Given the description of an element on the screen output the (x, y) to click on. 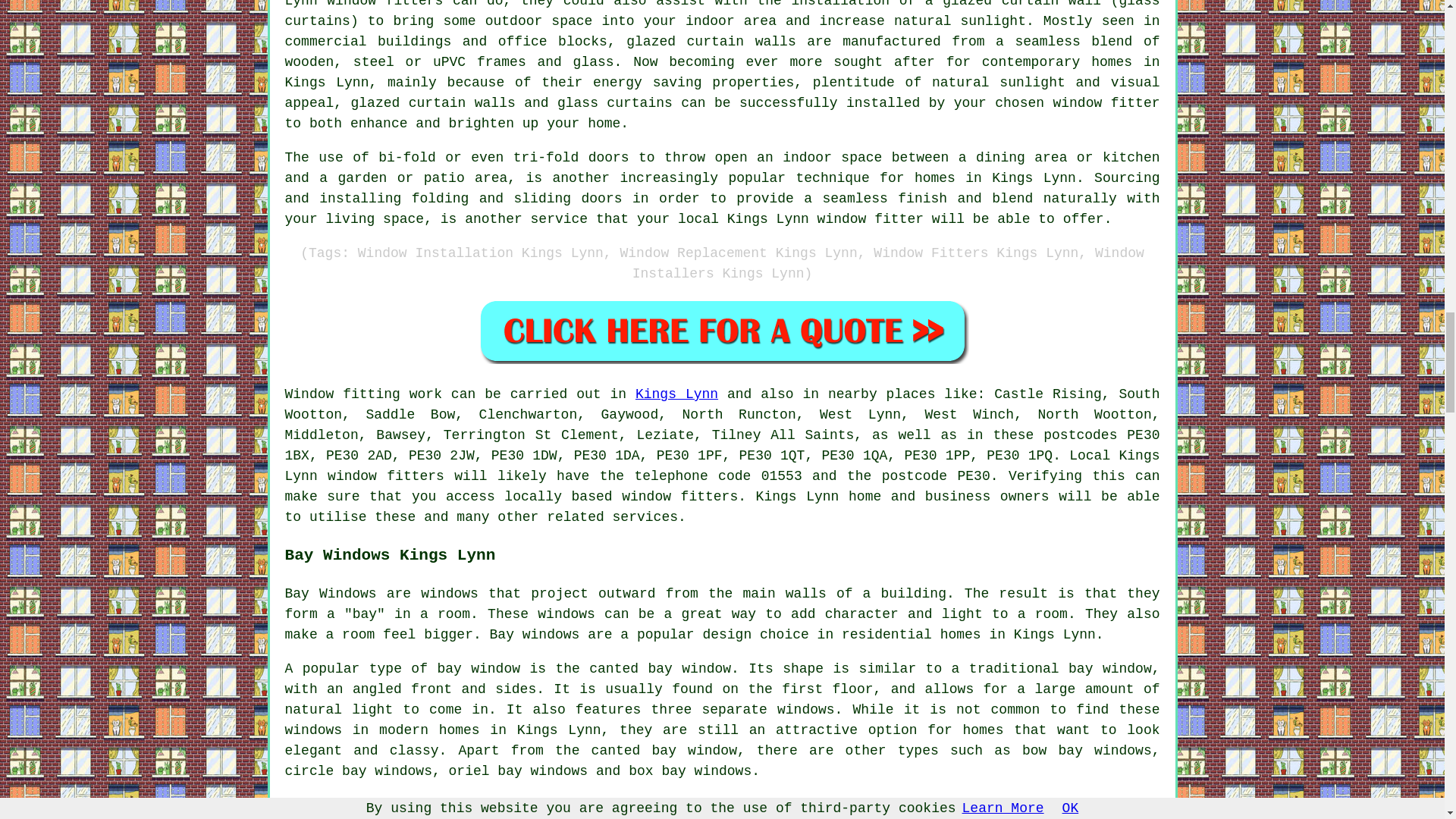
Book a Window Fitter in Kings Lynn UK (722, 330)
